Given the description of an element on the screen output the (x, y) to click on. 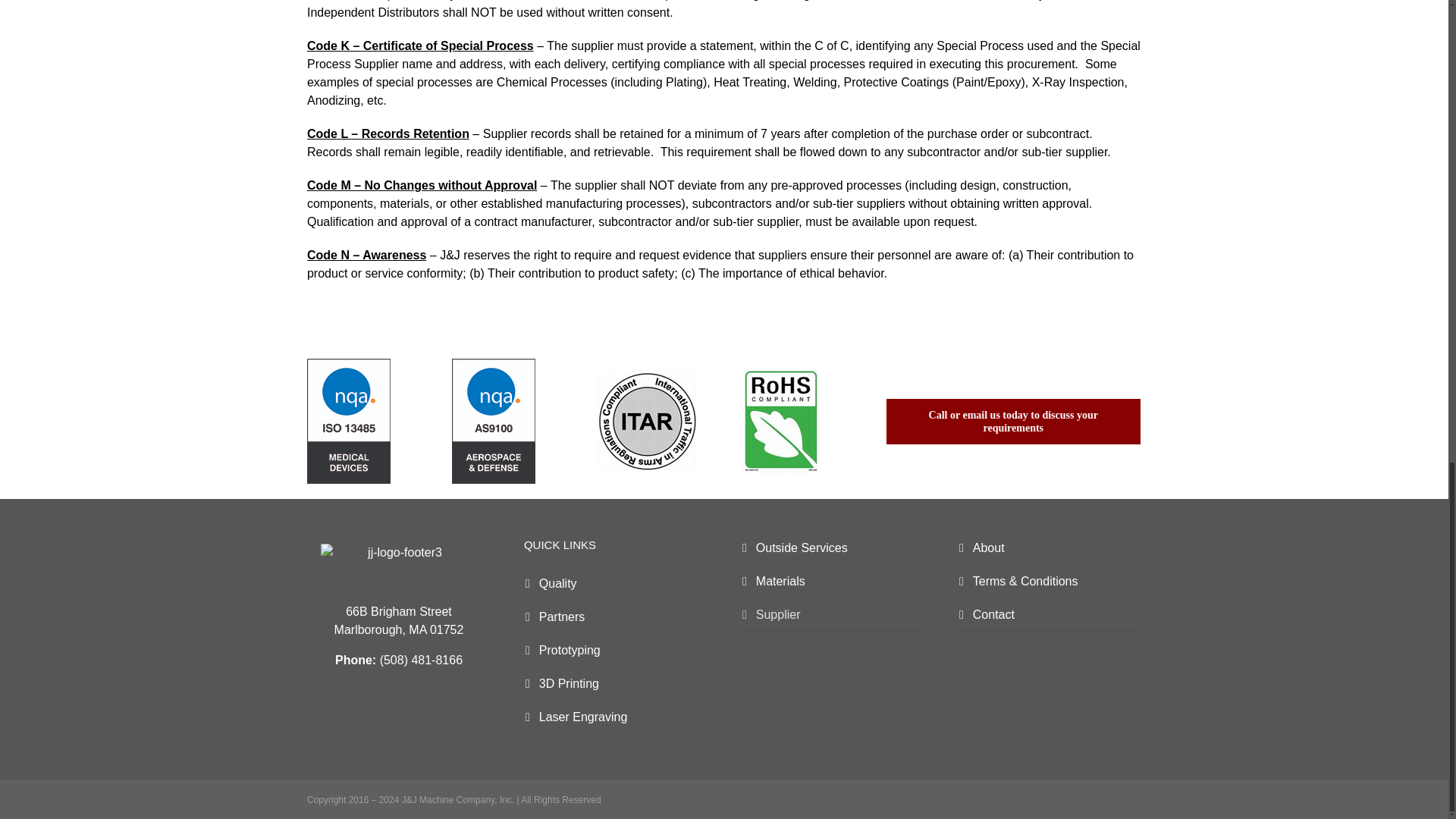
Laser Engraving (615, 717)
itarc (646, 421)
About (1049, 548)
Prototyping (615, 650)
Quality (615, 583)
Supplier (832, 614)
3D Printing (615, 684)
Outside Services (832, 548)
Partners (615, 616)
Contact (1049, 614)
